Given the description of an element on the screen output the (x, y) to click on. 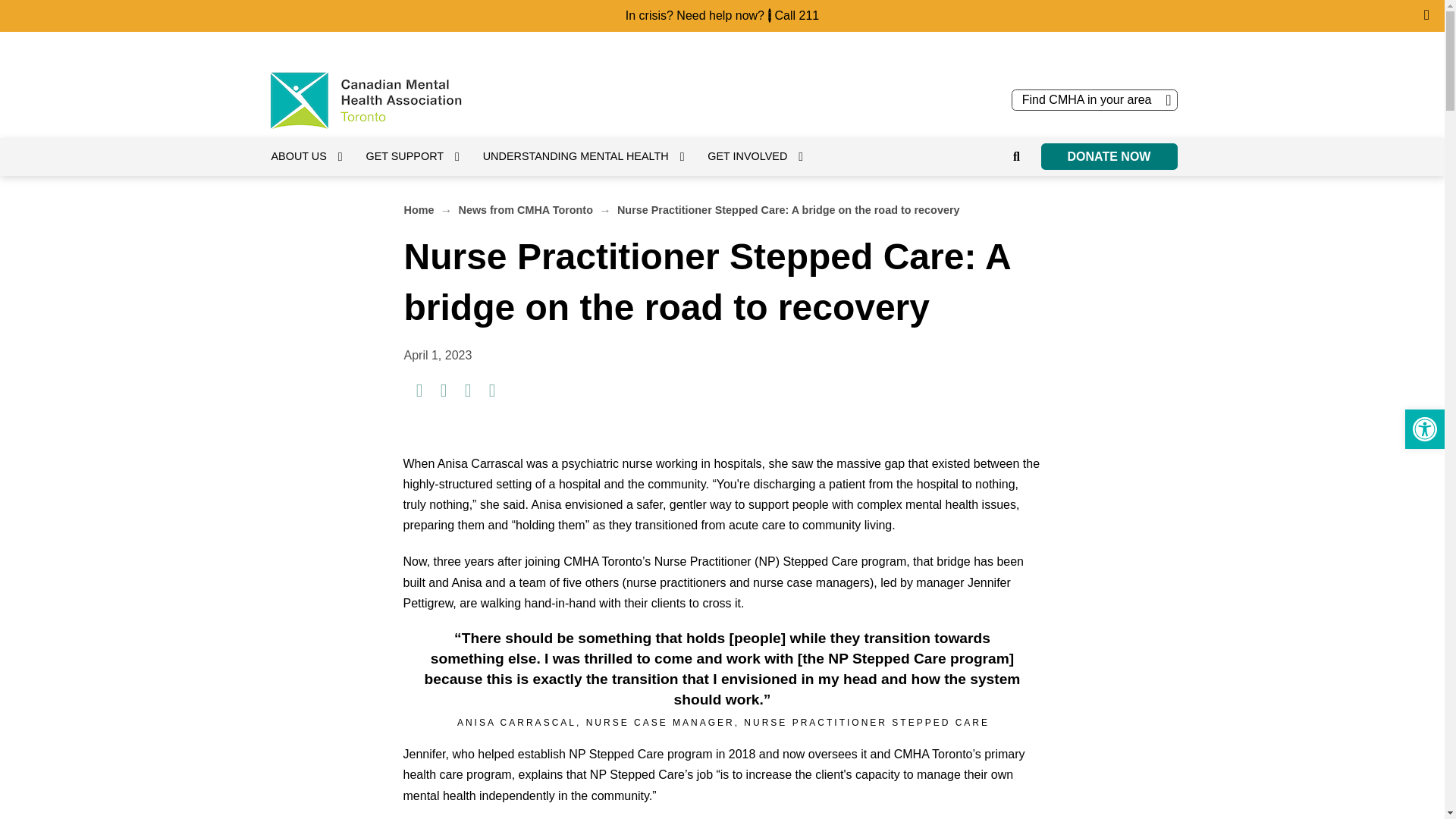
You Are Here (788, 210)
GET INVOLVED (762, 156)
Accessibility Tools (1424, 428)
UNDERSTANDING MENTAL HEALTH (1424, 428)
Call 211 (591, 156)
Accessibility Tools (796, 15)
Find CMHA in your area (1424, 428)
GET SUPPORT (1094, 99)
DONATE NOW (420, 156)
ABOUT US (1108, 156)
